Given the description of an element on the screen output the (x, y) to click on. 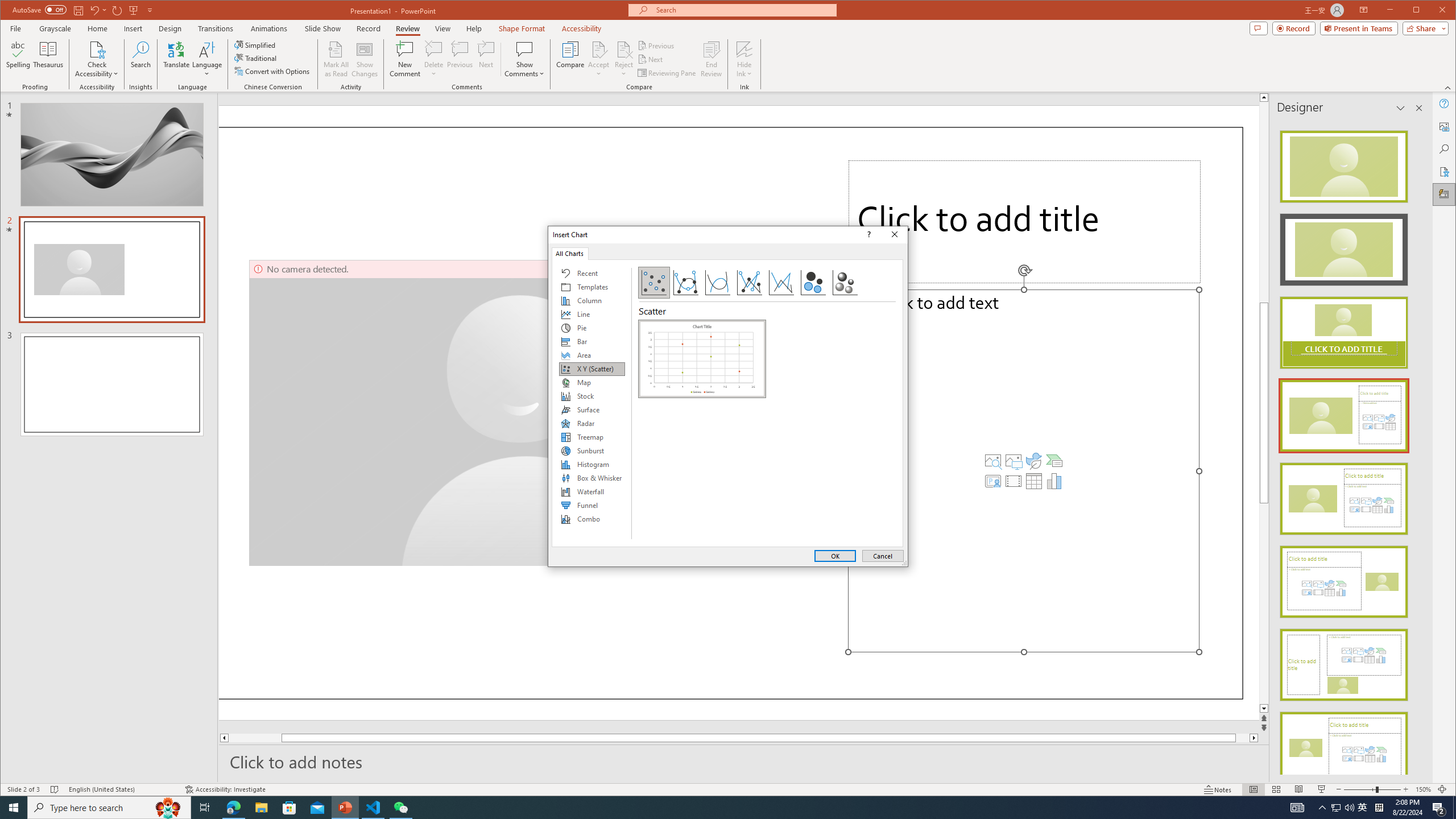
Cancel (882, 555)
Templates (591, 287)
Maximize (1432, 11)
OK (834, 555)
Previous (657, 45)
Class: NetUIGalleryContainer (701, 429)
Line up (1263, 96)
New Comment (405, 59)
Accept Change (598, 48)
Grayscale (55, 28)
Bubble (813, 282)
